Given the description of an element on the screen output the (x, y) to click on. 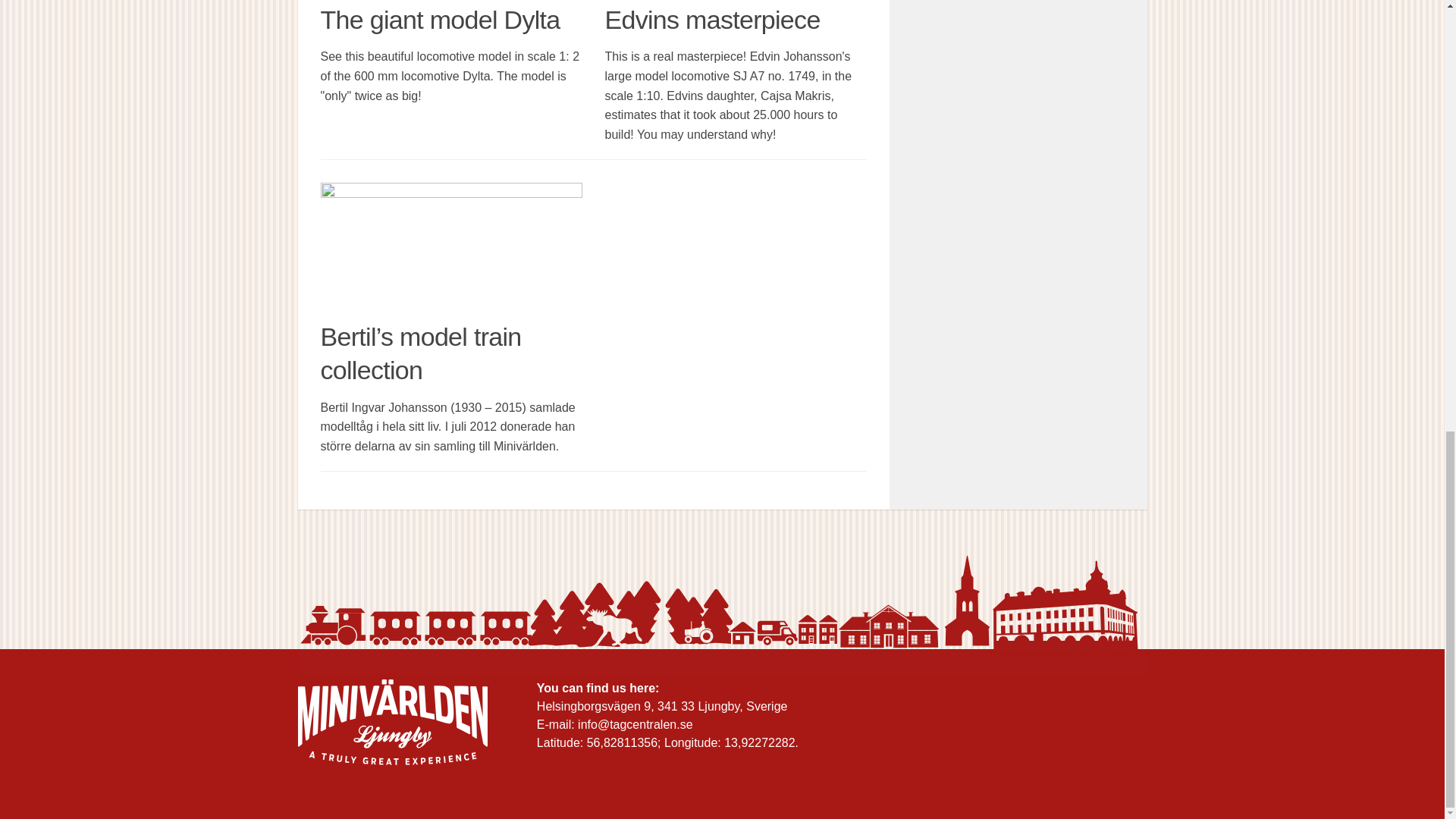
The giant model Dylta (439, 19)
Edvins masterpiece (713, 19)
